Given the description of an element on the screen output the (x, y) to click on. 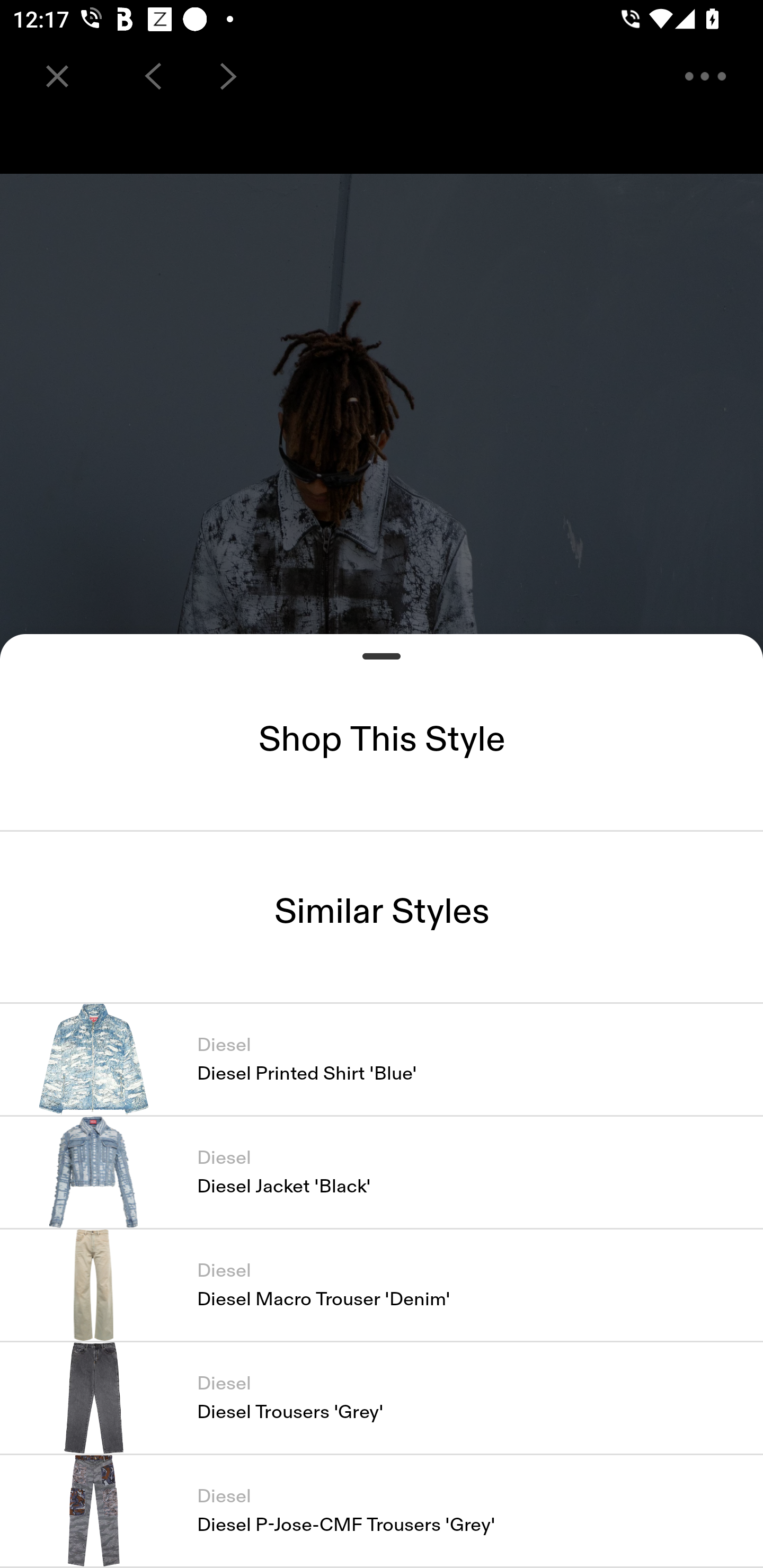
Diesel Diesel Printed Shirt 'Blue' (381, 1058)
Diesel Diesel Jacket 'Black' (381, 1171)
Diesel Diesel Macro Trouser 'Denim' (381, 1284)
Diesel Diesel Trousers 'Grey' (381, 1397)
Diesel Diesel P-Jose-CMF Trousers 'Grey' (381, 1510)
